Given the description of an element on the screen output the (x, y) to click on. 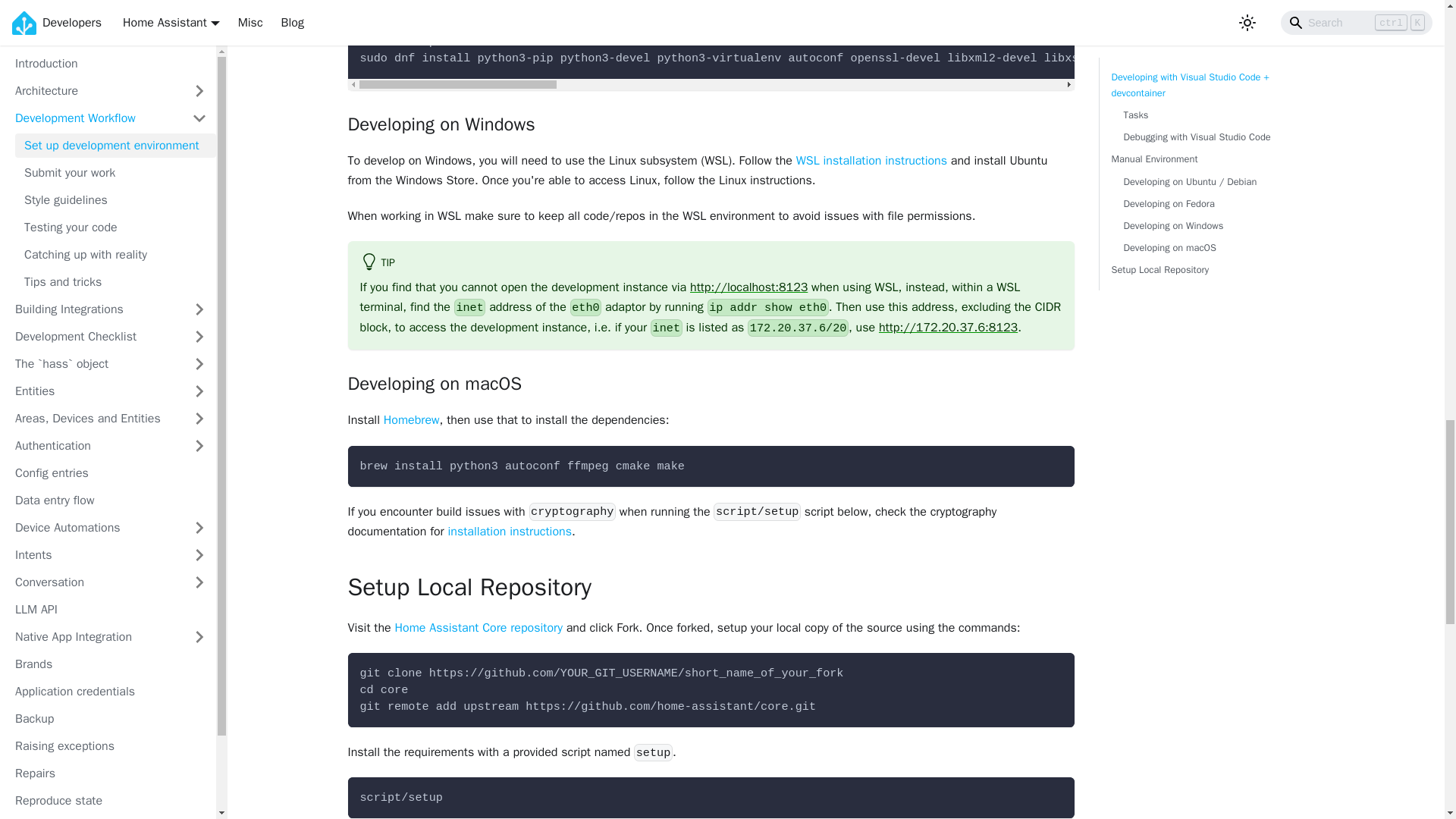
brew install python3 autoconf ffmpeg cmake make (710, 465)
